Given the description of an element on the screen output the (x, y) to click on. 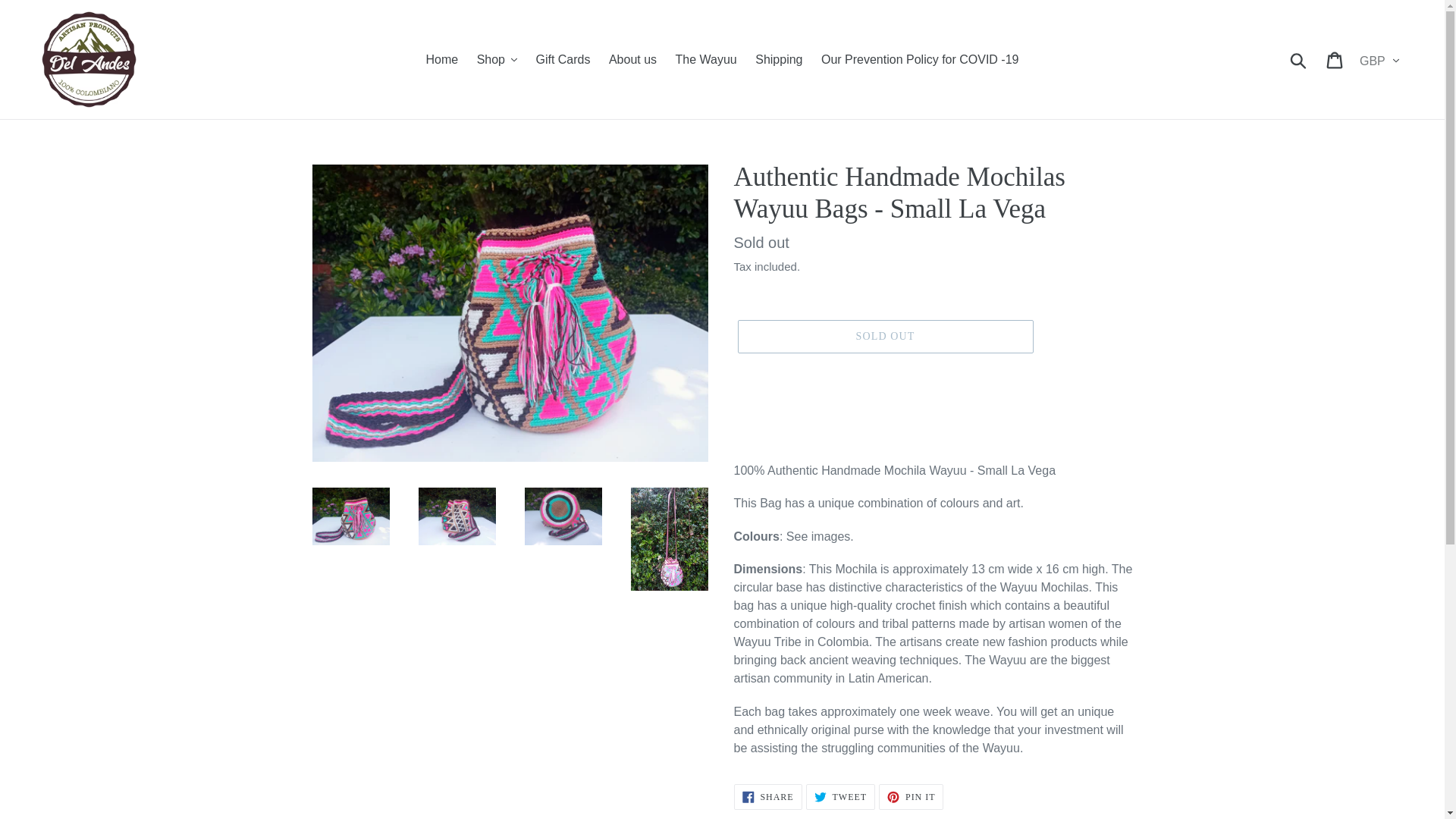
Gift Cards (561, 59)
Our Prevention Policy for COVID -19 (919, 59)
Home (442, 59)
Submit (1299, 59)
Cart (1335, 59)
The Wayuu (706, 59)
Shipping (778, 59)
About us (632, 59)
